Given the description of an element on the screen output the (x, y) to click on. 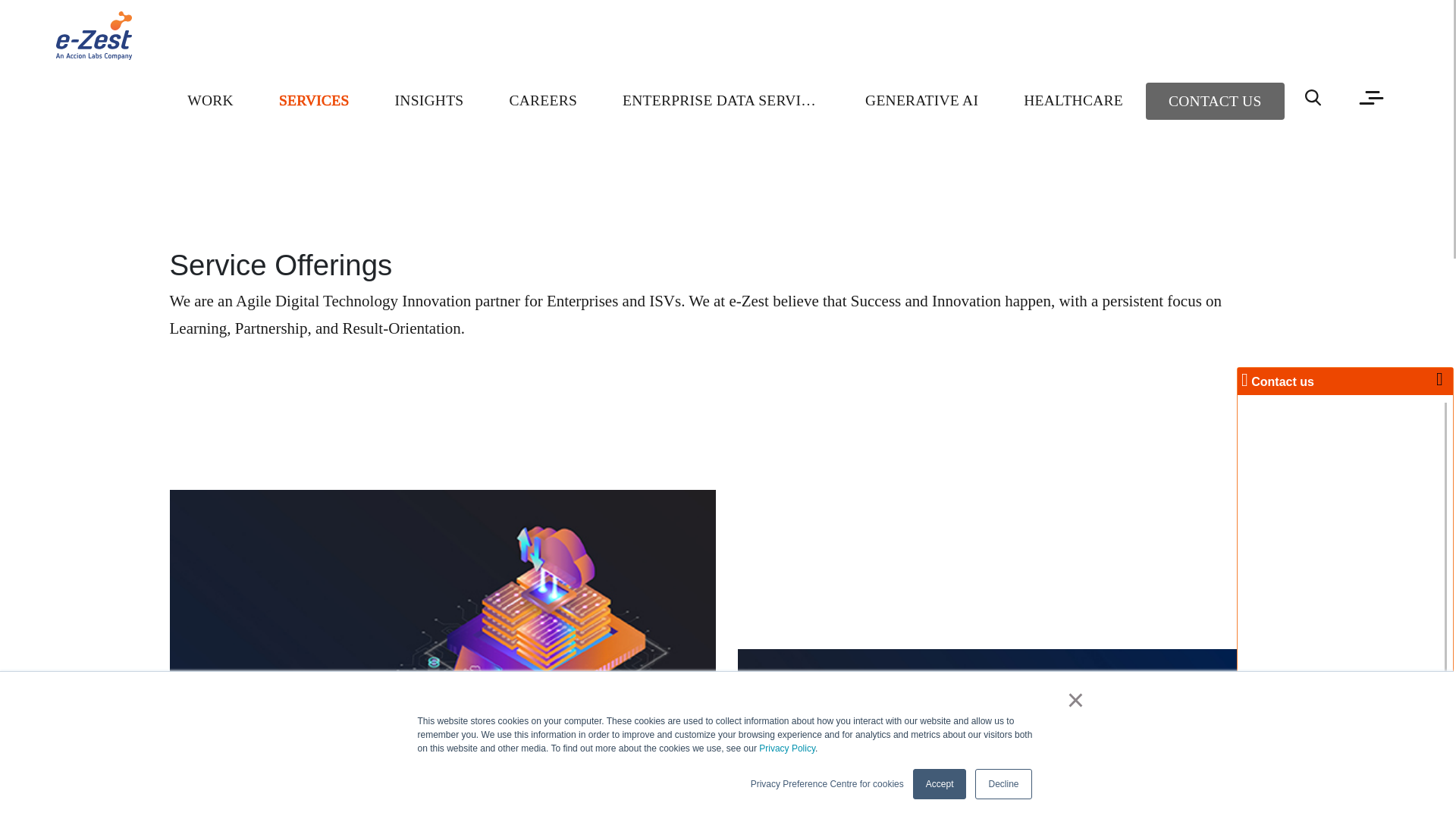
GENERATIVE AI (922, 100)
WORK (210, 100)
Privacy Policy (786, 747)
Privacy Preference Centre for cookies (827, 784)
Accept (939, 784)
Contact Us (1214, 101)
WORK (210, 100)
Healthcare (1073, 100)
SERVICES (314, 100)
GENERATIVE AI (922, 100)
SERVICES (314, 100)
CONTACT US (1214, 101)
ENTERPRISE DATA SERVICES (721, 100)
HEALTHCARE (1073, 100)
CAREERS (542, 100)
